Given the description of an element on the screen output the (x, y) to click on. 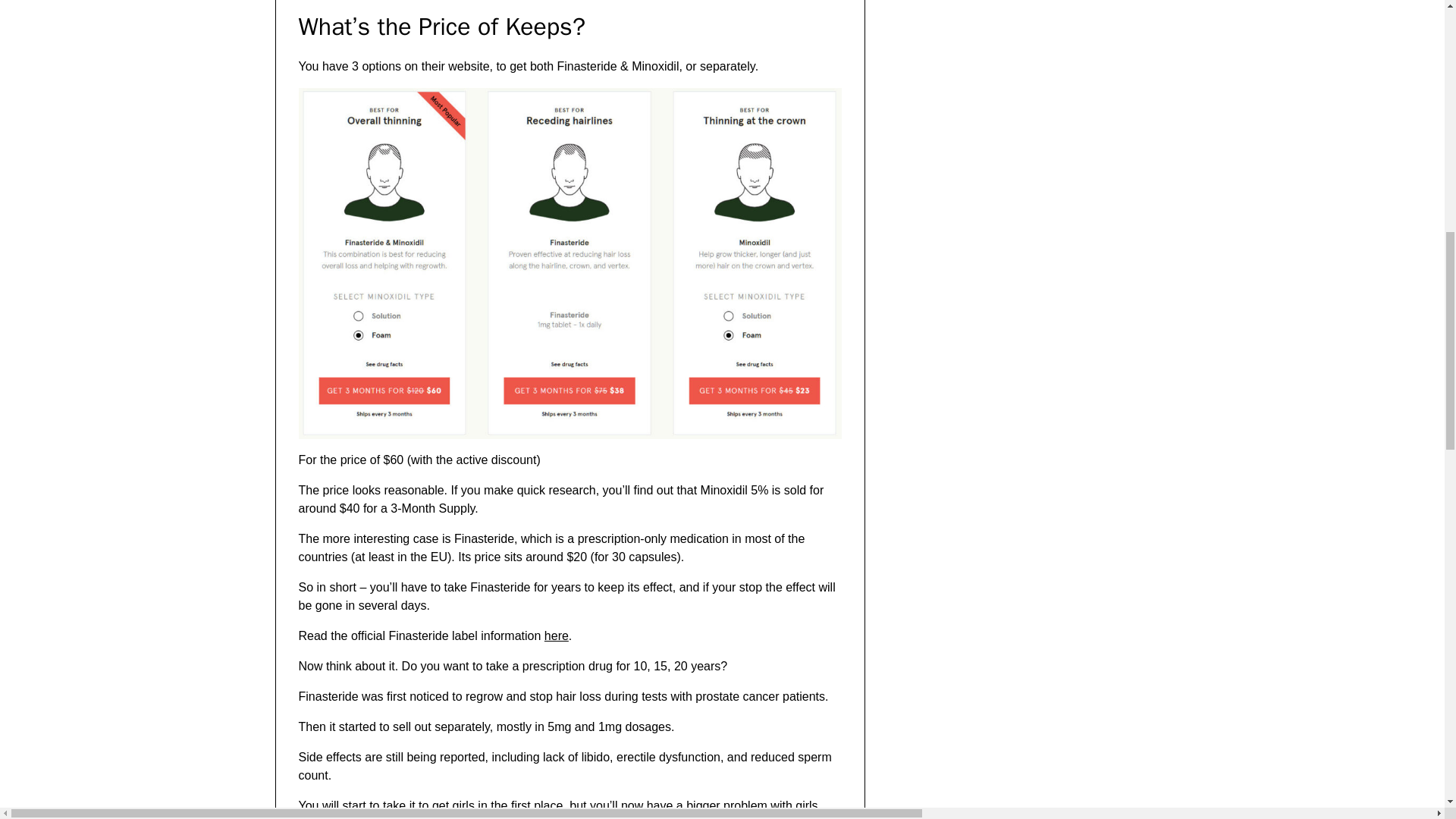
here (556, 635)
